Given the description of an element on the screen output the (x, y) to click on. 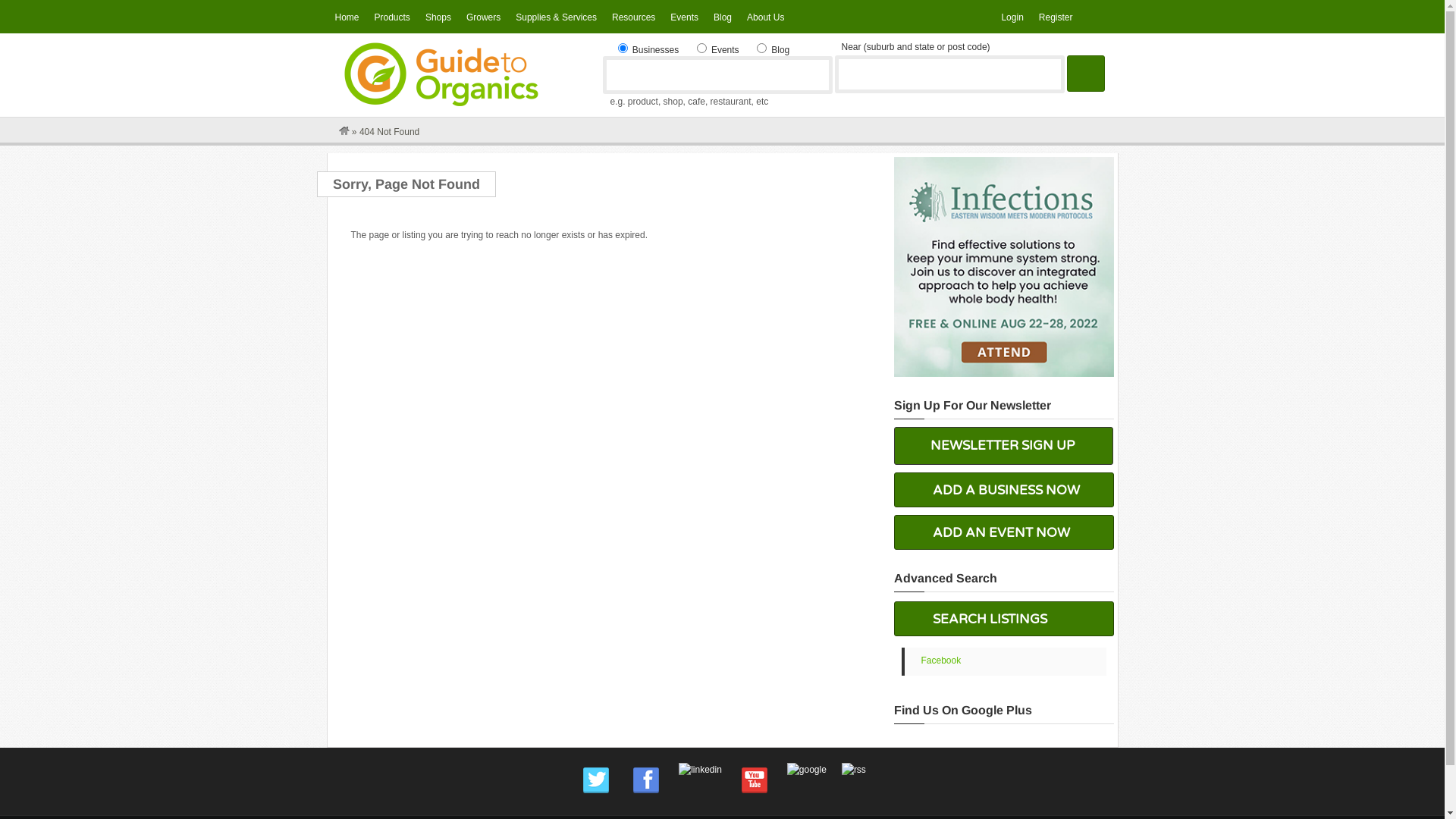
Resources Element type: text (633, 18)
Events Element type: text (684, 18)
Blog Element type: text (722, 18)
ADD AN EVENT NOW Element type: text (1003, 532)
Where Australia Goes To Find Organics Element type: hover (440, 108)
Growers Element type: text (483, 18)
Guide To Organics Element type: hover (343, 131)
Facebook Element type: text (940, 660)
NEWSLETTER SIGN UP Element type: text (1002, 445)
About Us Element type: text (765, 18)
ADD A BUSINESS NOW Element type: text (1003, 490)
Search Element type: text (1085, 73)
Shops Element type: text (437, 18)
Login Element type: text (1011, 18)
Products Element type: text (392, 18)
Supplies & Services Element type: text (556, 18)
SEARCH LISTINGS Element type: text (1003, 619)
Home Element type: text (347, 18)
Register Element type: text (1055, 18)
